Given the description of an element on the screen output the (x, y) to click on. 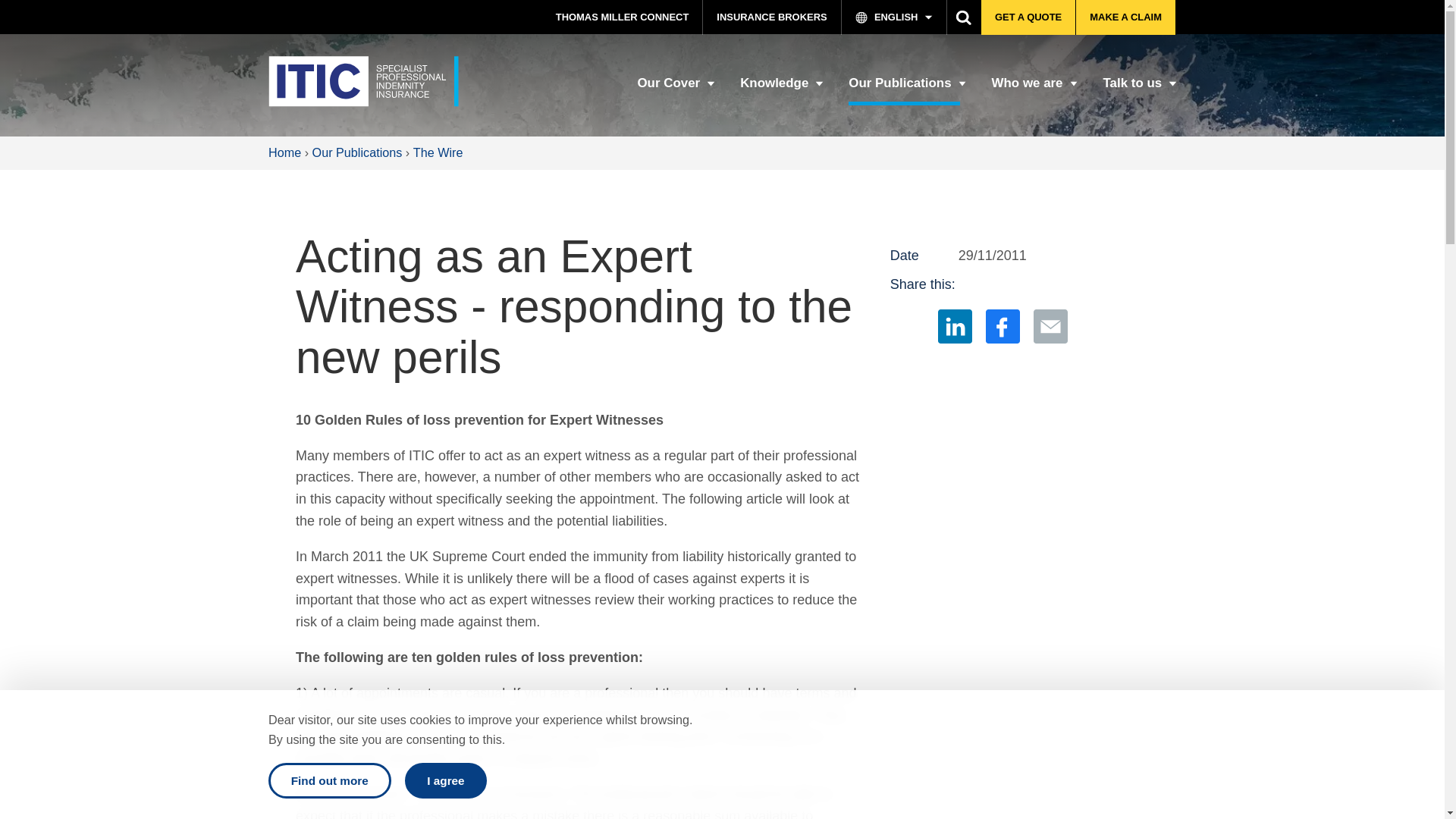
Find out more (329, 780)
Search (964, 17)
Insurance Brokers (772, 17)
ENGLISH (894, 17)
THOMAS MILLER CONNECT (622, 17)
MAKE A CLAIM (1125, 17)
Thomas Miller Connect (622, 17)
I agree (445, 780)
INSURANCE BROKERS (772, 17)
Our Cover (673, 89)
GET A QUOTE (1028, 17)
